Given the description of an element on the screen output the (x, y) to click on. 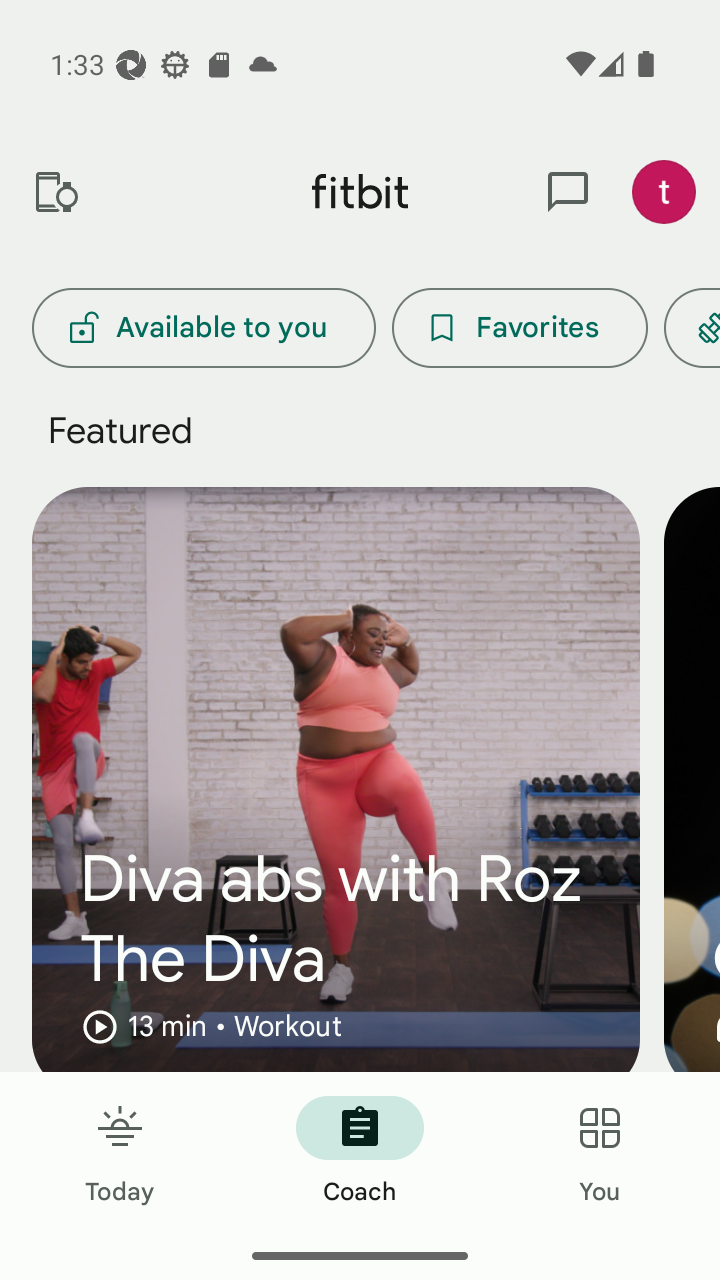
Devices and apps (55, 191)
messages and notifications (567, 191)
Available to you (203, 328)
Favorites (519, 328)
Today (119, 1151)
You (600, 1151)
